Given the description of an element on the screen output the (x, y) to click on. 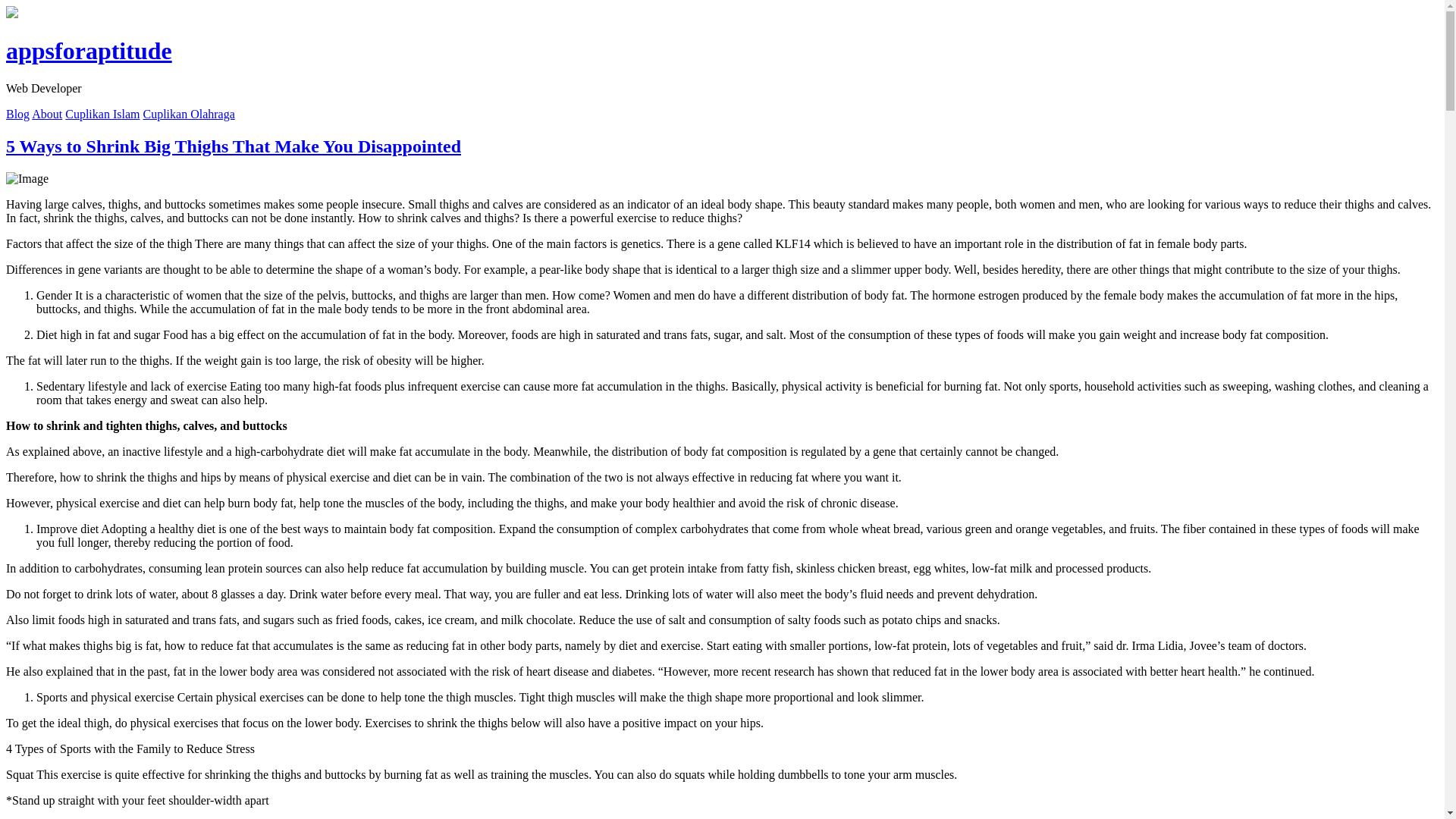
Cuplikan Olahraga (188, 113)
5 Ways to Shrink Big Thighs That Make You Disappointed (233, 146)
appsforaptitude (88, 50)
About (47, 113)
Cuplikan Islam (102, 113)
Blog (17, 113)
